Given the description of an element on the screen output the (x, y) to click on. 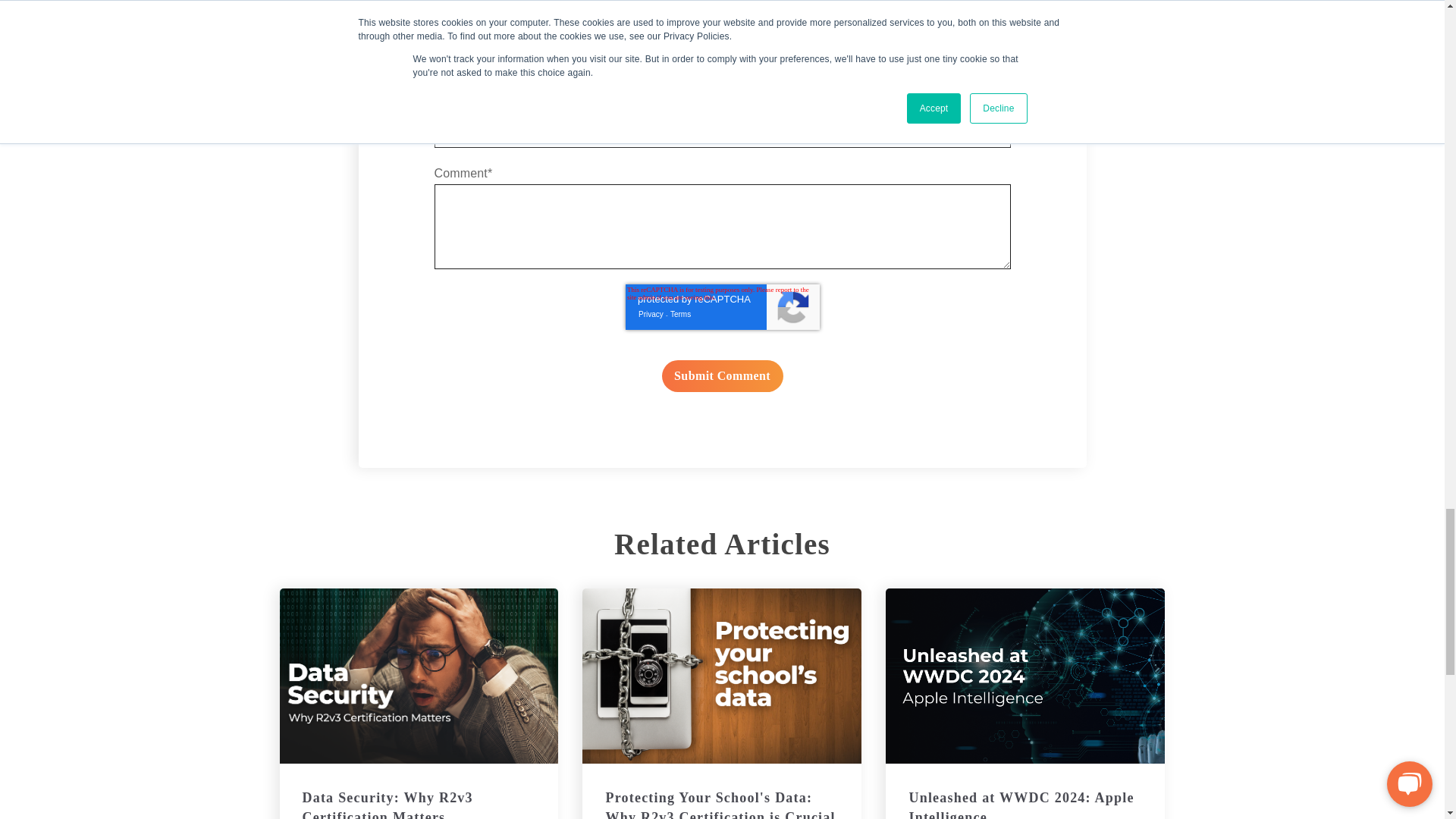
reCAPTCHA (721, 307)
Submit Comment (722, 376)
